Given the description of an element on the screen output the (x, y) to click on. 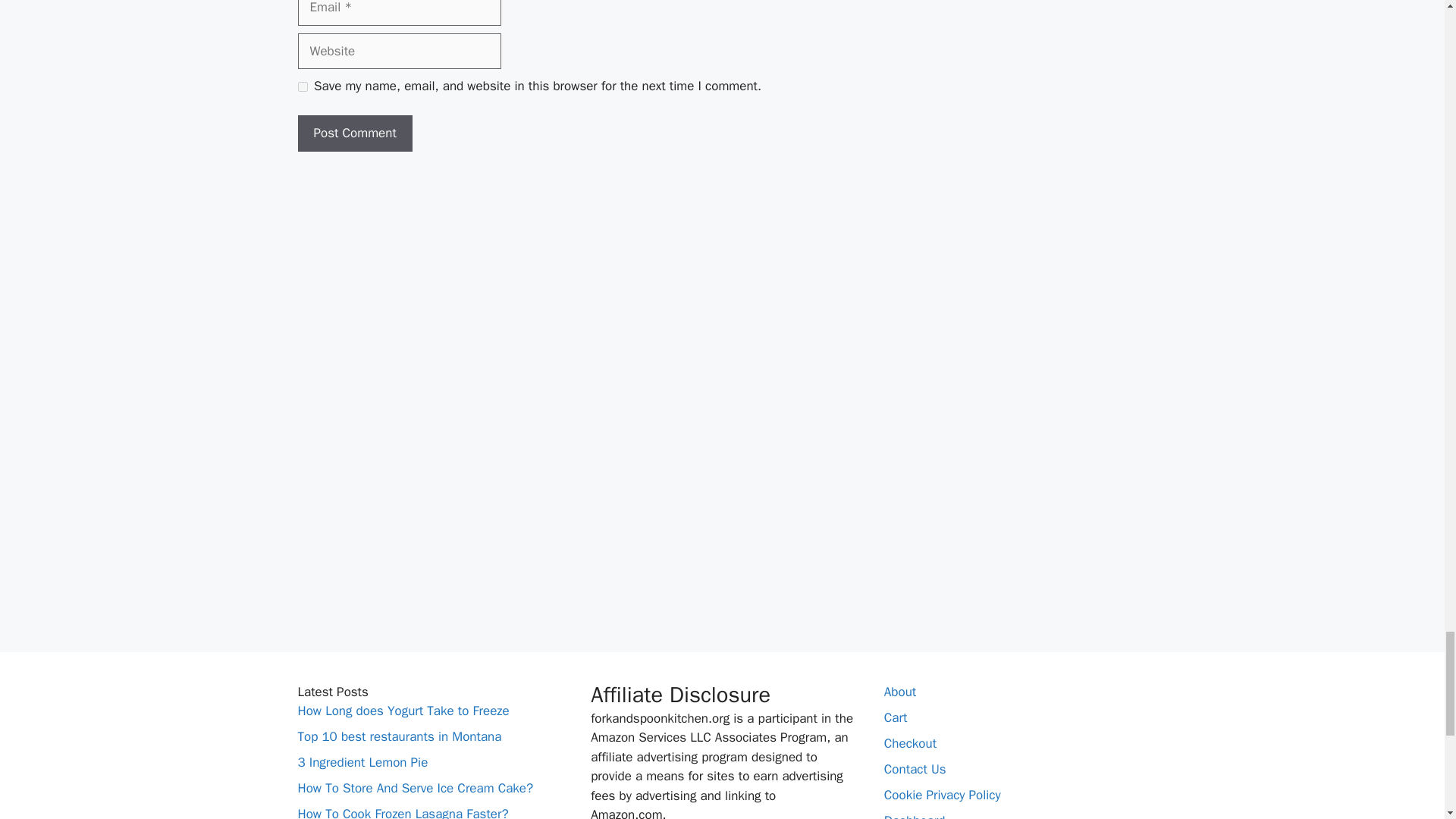
Post Comment (354, 133)
yes (302, 86)
